Given the description of an element on the screen output the (x, y) to click on. 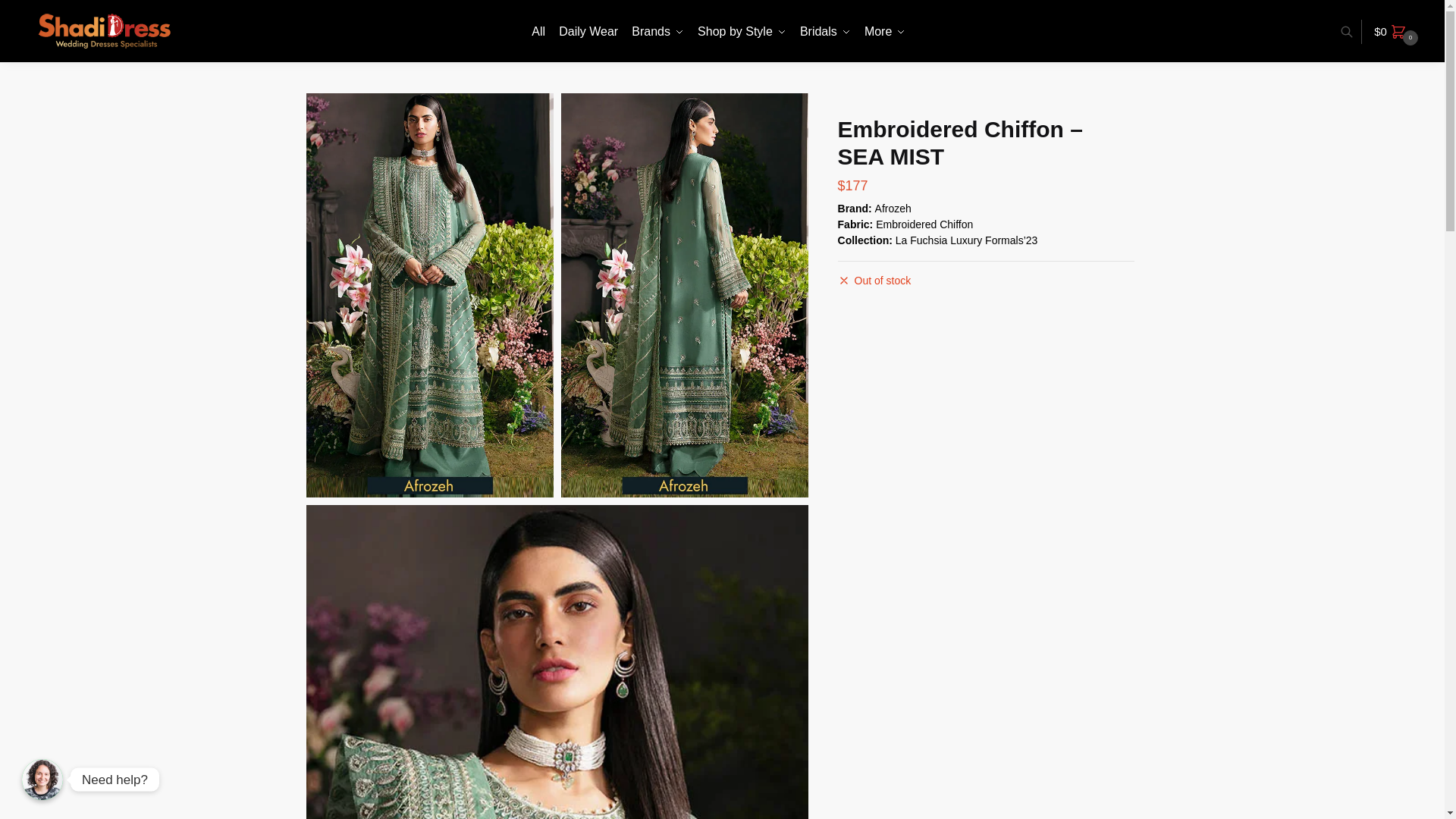
Daily Wear (587, 31)
View your shopping cart (1398, 31)
Brands (657, 31)
